Given the description of an element on the screen output the (x, y) to click on. 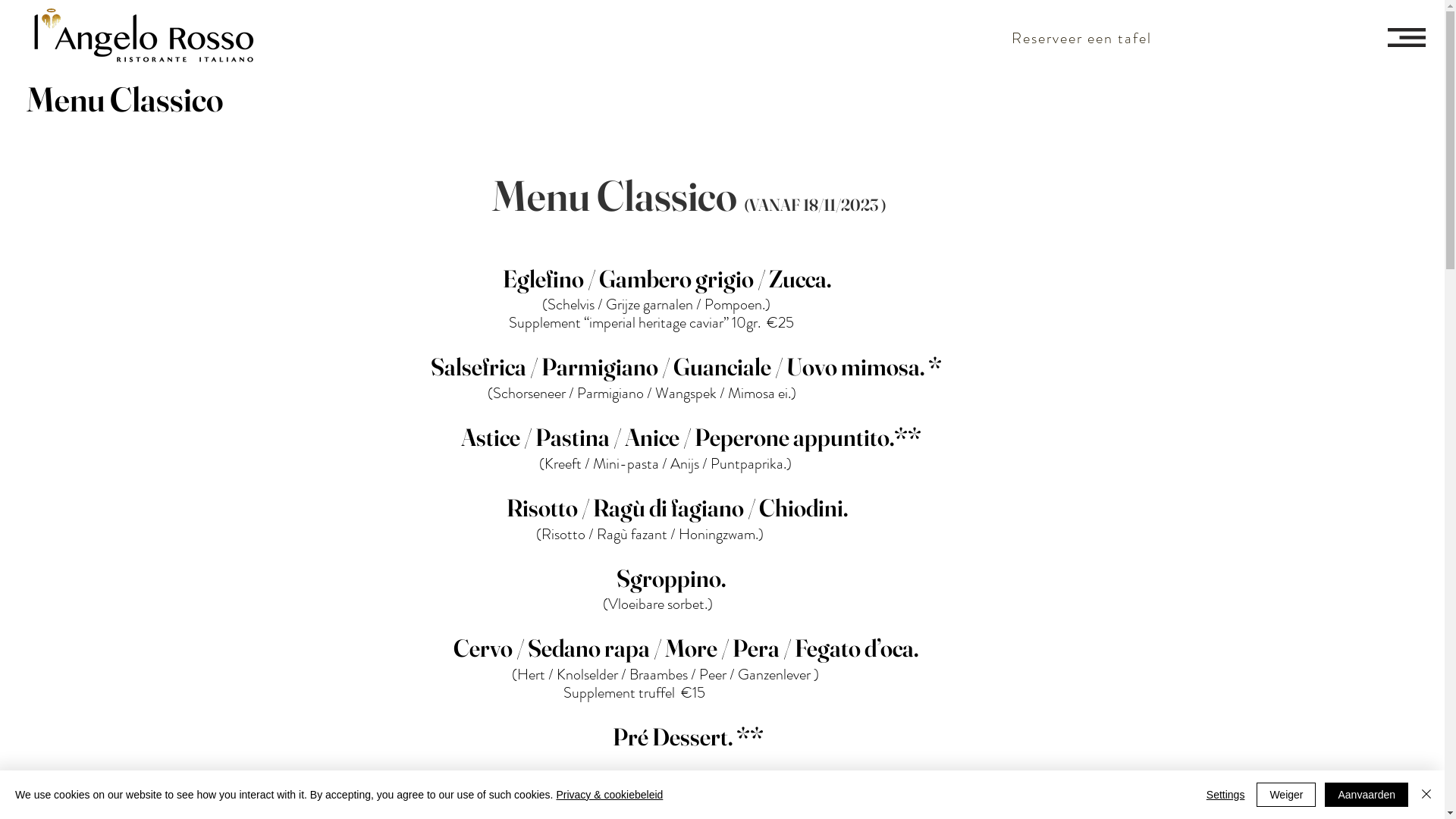
Privacy & cookiebeleid Element type: text (608, 794)
Reserveer een tafel Element type: text (1082, 37)
Aanvaarden Element type: text (1366, 794)
Weiger Element type: text (1285, 794)
